Given the description of an element on the screen output the (x, y) to click on. 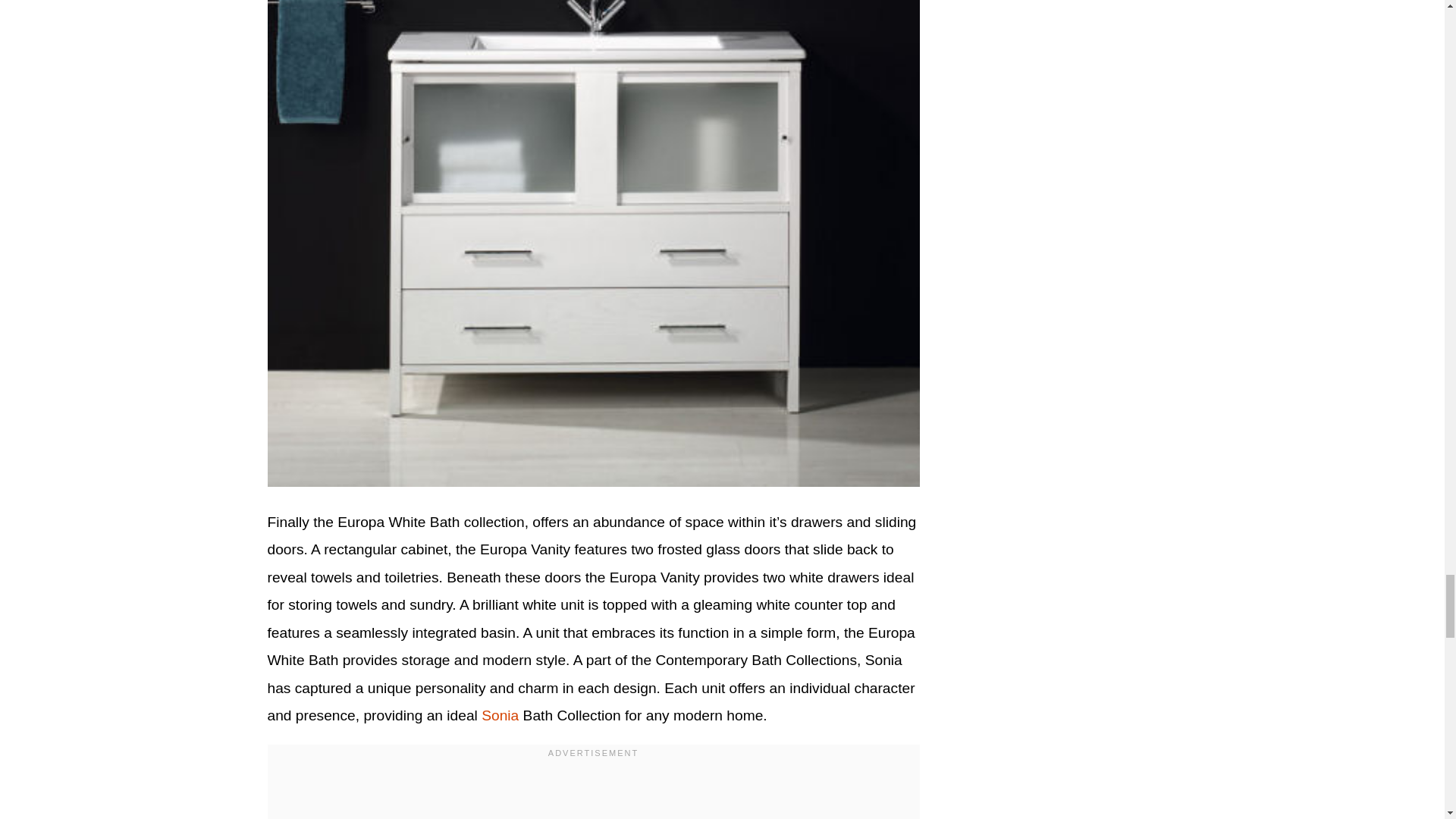
Sonia (499, 715)
